Given the description of an element on the screen output the (x, y) to click on. 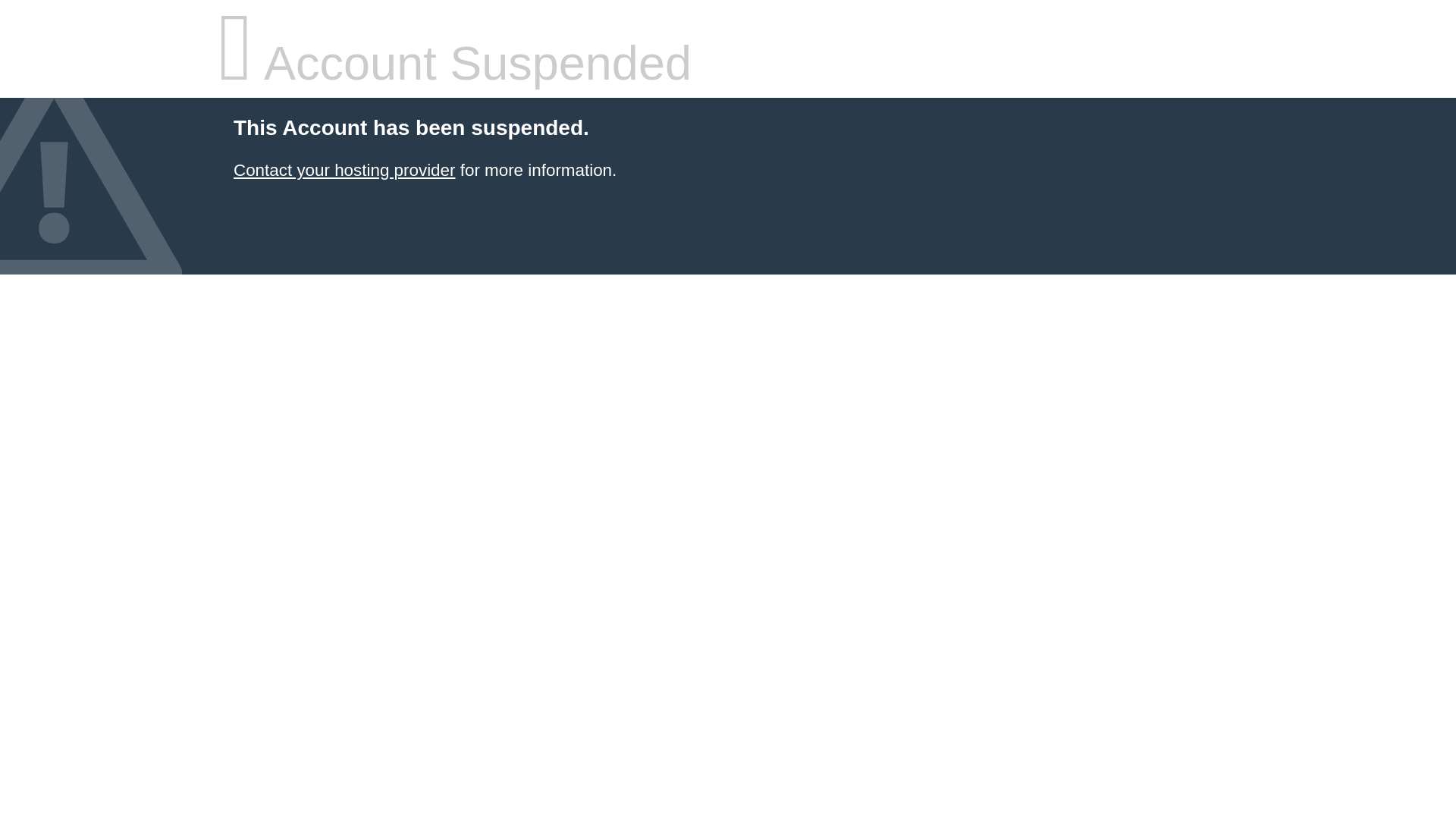
Contact your hosting provider (343, 169)
